Given the description of an element on the screen output the (x, y) to click on. 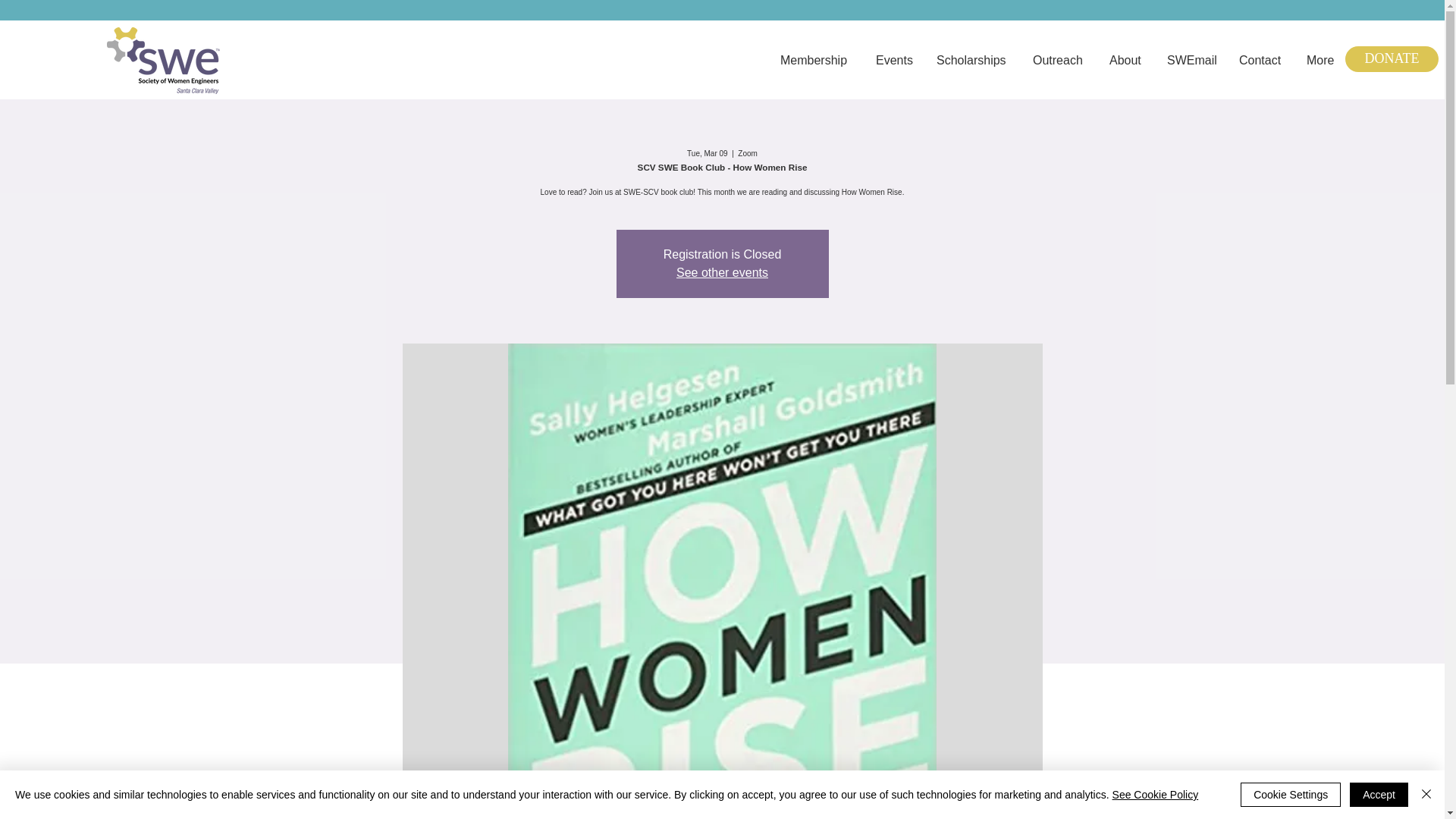
Cookie Settings (1290, 794)
Scholarships (973, 59)
Accept (1378, 794)
Membership (816, 59)
DONATE (1391, 58)
See Cookie Policy (1155, 794)
Events (894, 59)
See other events (722, 272)
About (1126, 59)
Outreach (1059, 59)
